Given the description of an element on the screen output the (x, y) to click on. 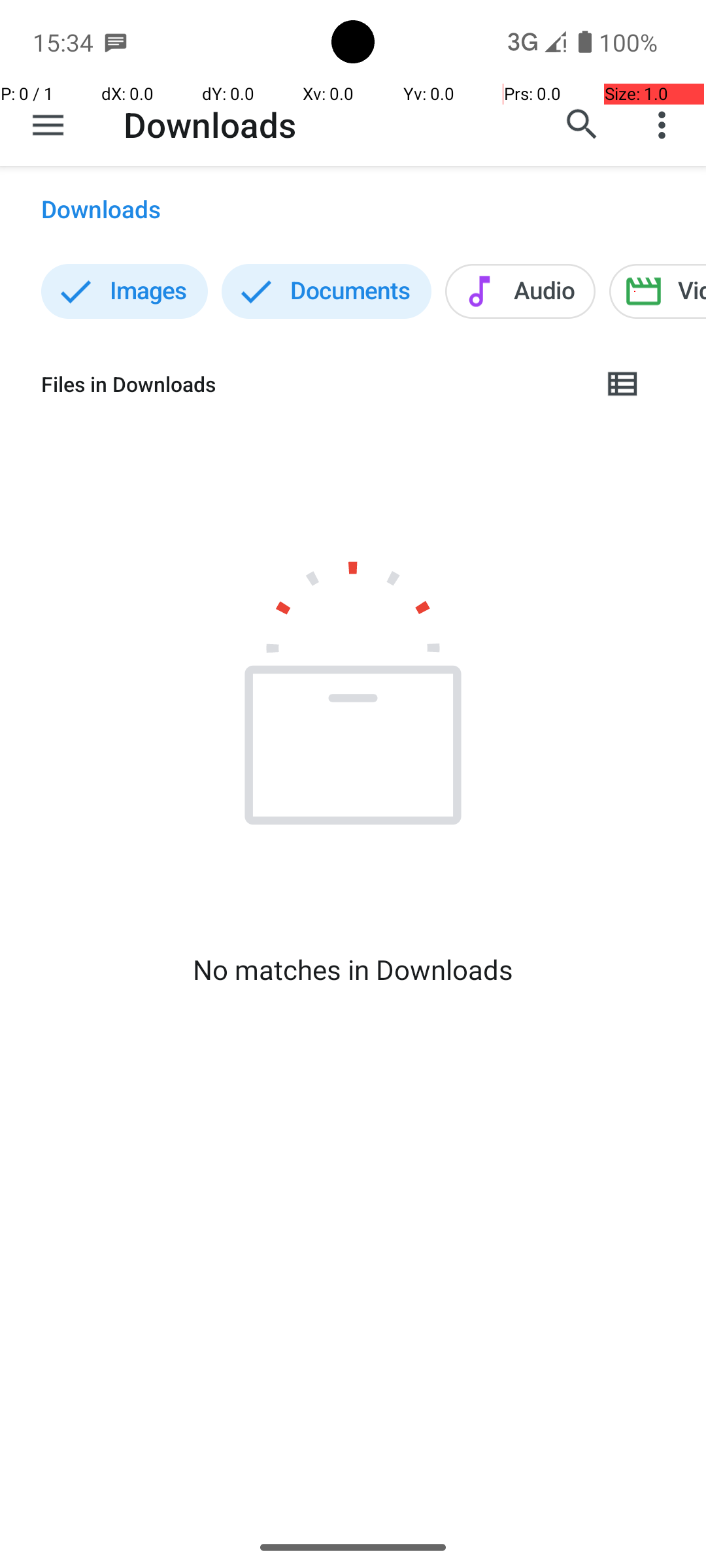
Downloads Element type: android.widget.TextView (209, 124)
No matches in Downloads Element type: android.widget.TextView (352, 968)
SMS Messenger notification: +12845986552 Element type: android.widget.ImageView (115, 41)
